Given the description of an element on the screen output the (x, y) to click on. 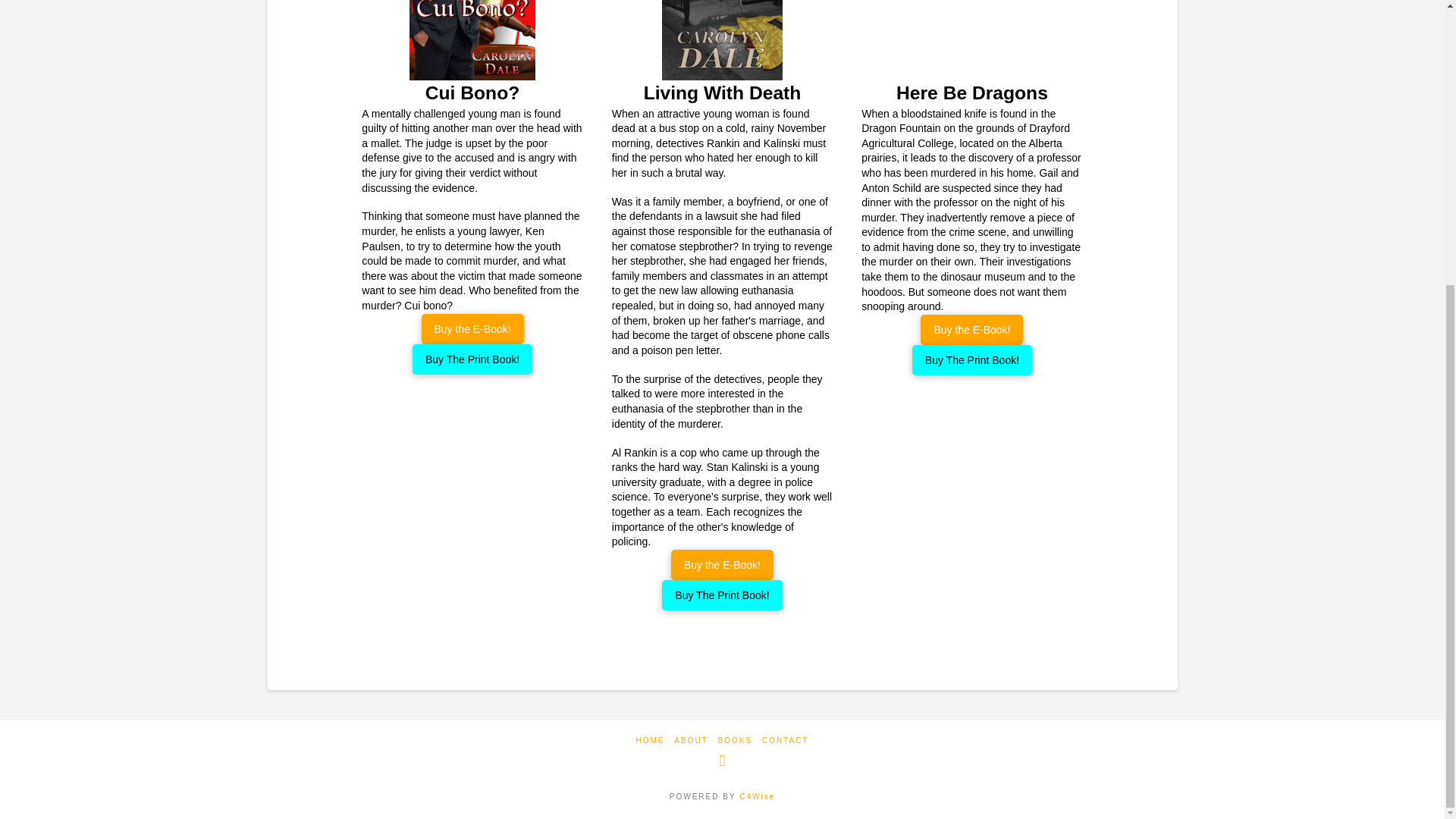
Buy The Print Book! (721, 594)
Buy the E-Book! (722, 564)
Buy the E-Book! (971, 329)
C4Wise (756, 796)
BOOKS (734, 740)
ABOUT (690, 740)
Buy the E-Book! (473, 328)
Buy The Print Book! (472, 358)
HOME (650, 740)
Buy The Print Book! (972, 359)
